Given the description of an element on the screen output the (x, y) to click on. 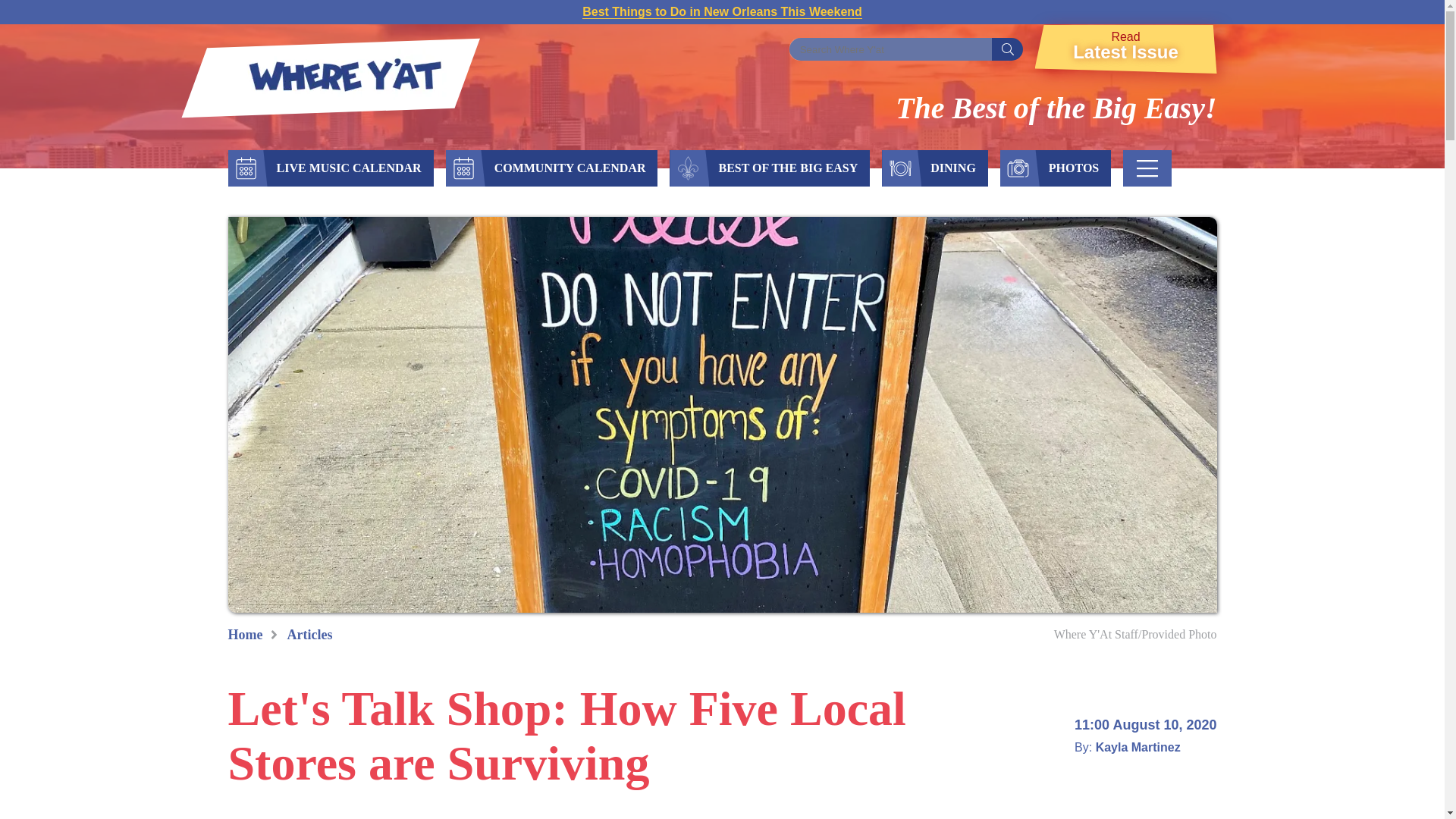
LIVE MUSIC CALENDAR (347, 167)
Best Things to Do in New Orleans This Weekend (1124, 49)
COMMUNITY CALENDAR (721, 11)
